Given the description of an element on the screen output the (x, y) to click on. 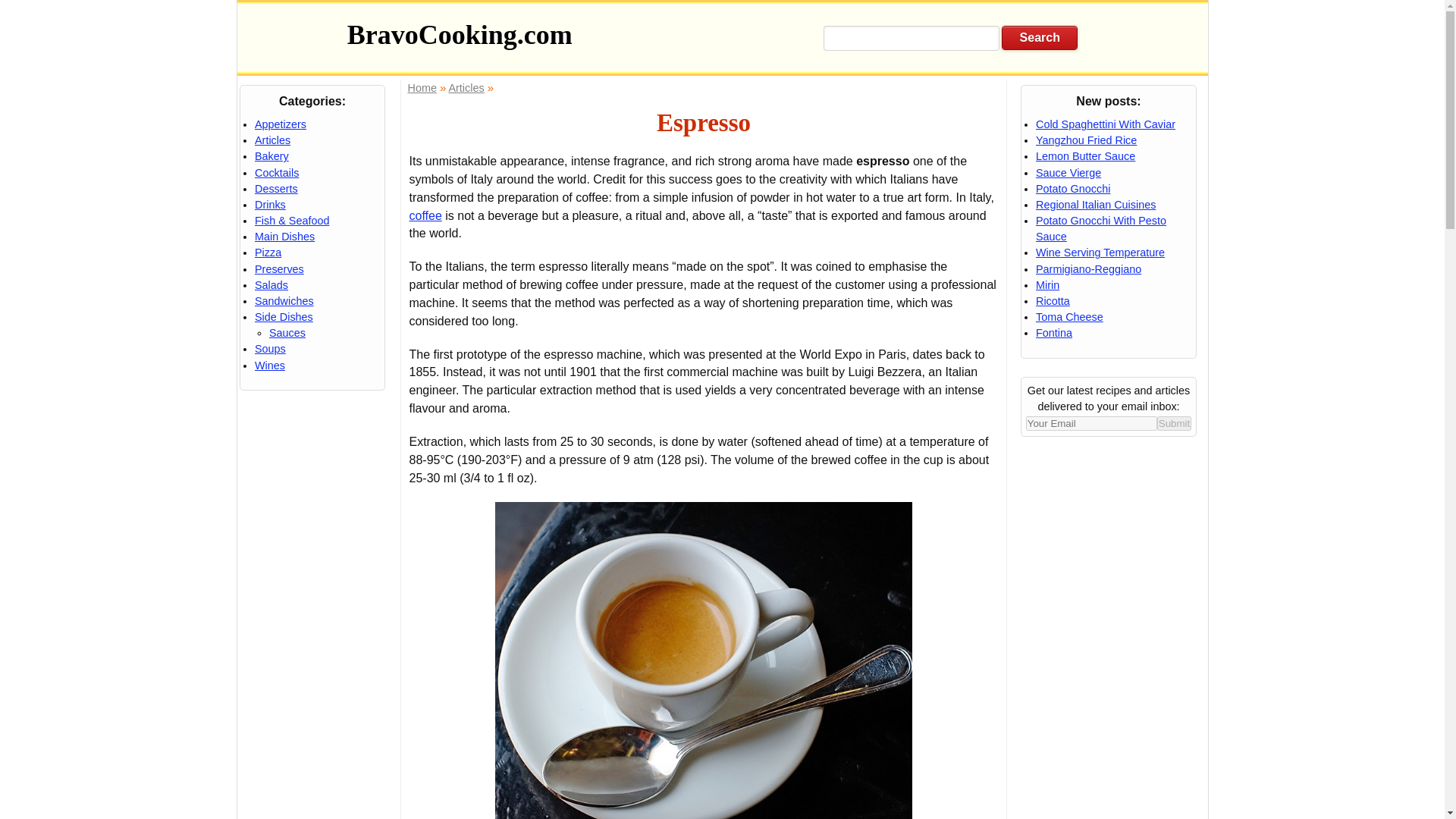
Potato Gnocchi (1072, 188)
Regional Italian Cuisines (1095, 204)
Submit (1174, 423)
Yangzhou Fried Rice (1086, 140)
Articles (271, 140)
Home (421, 87)
Appetizers (279, 123)
Lemon Butter Sauce (1085, 155)
Mirin (1047, 285)
Search (1039, 37)
